Given the description of an element on the screen output the (x, y) to click on. 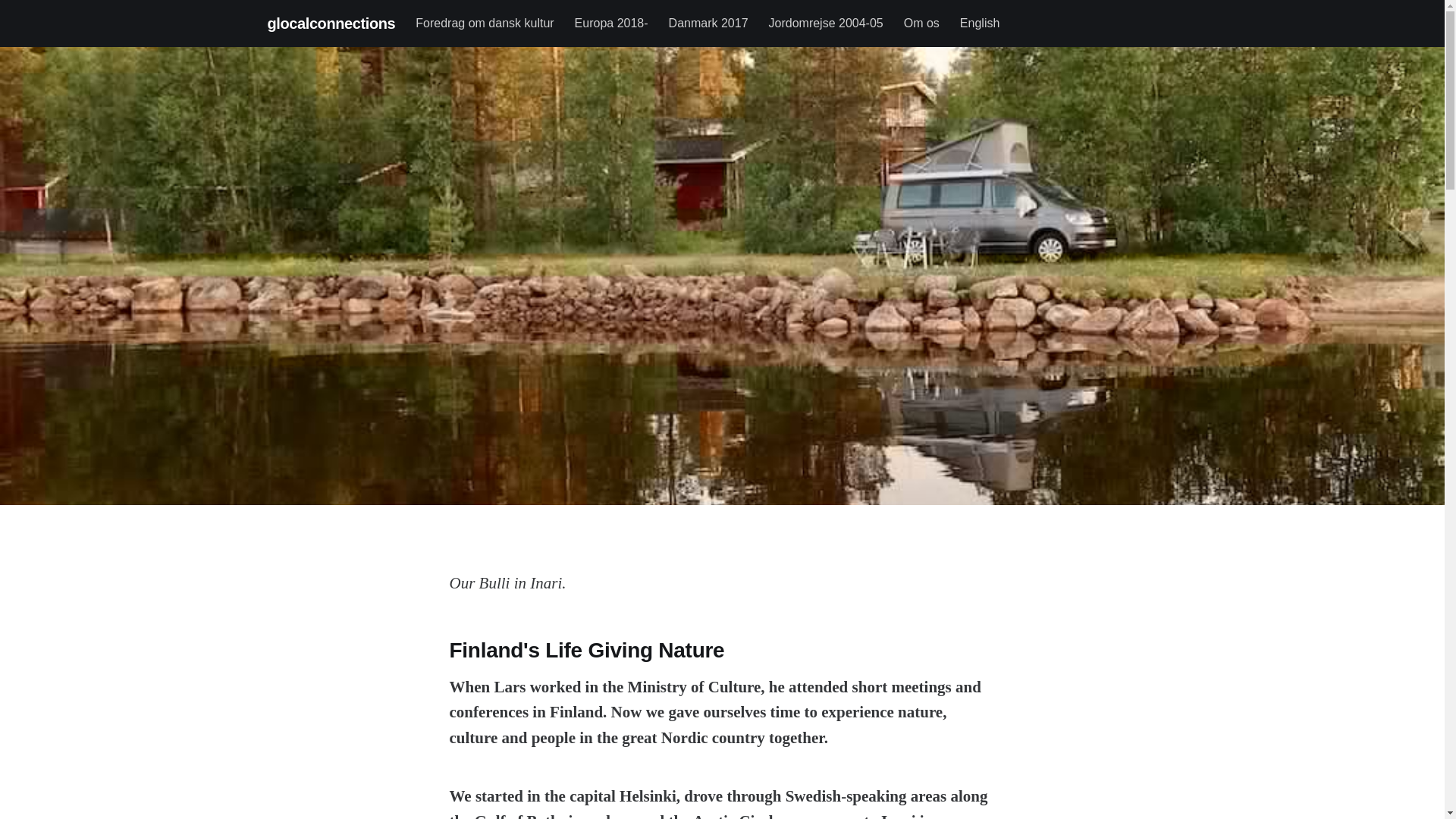
Om os (921, 22)
Foredrag om dansk kultur (483, 22)
Danmark 2017 (708, 22)
glocalconnections (330, 23)
Europa 2018- (611, 22)
Jordomrejse 2004-05 (825, 22)
English (978, 22)
